Given the description of an element on the screen output the (x, y) to click on. 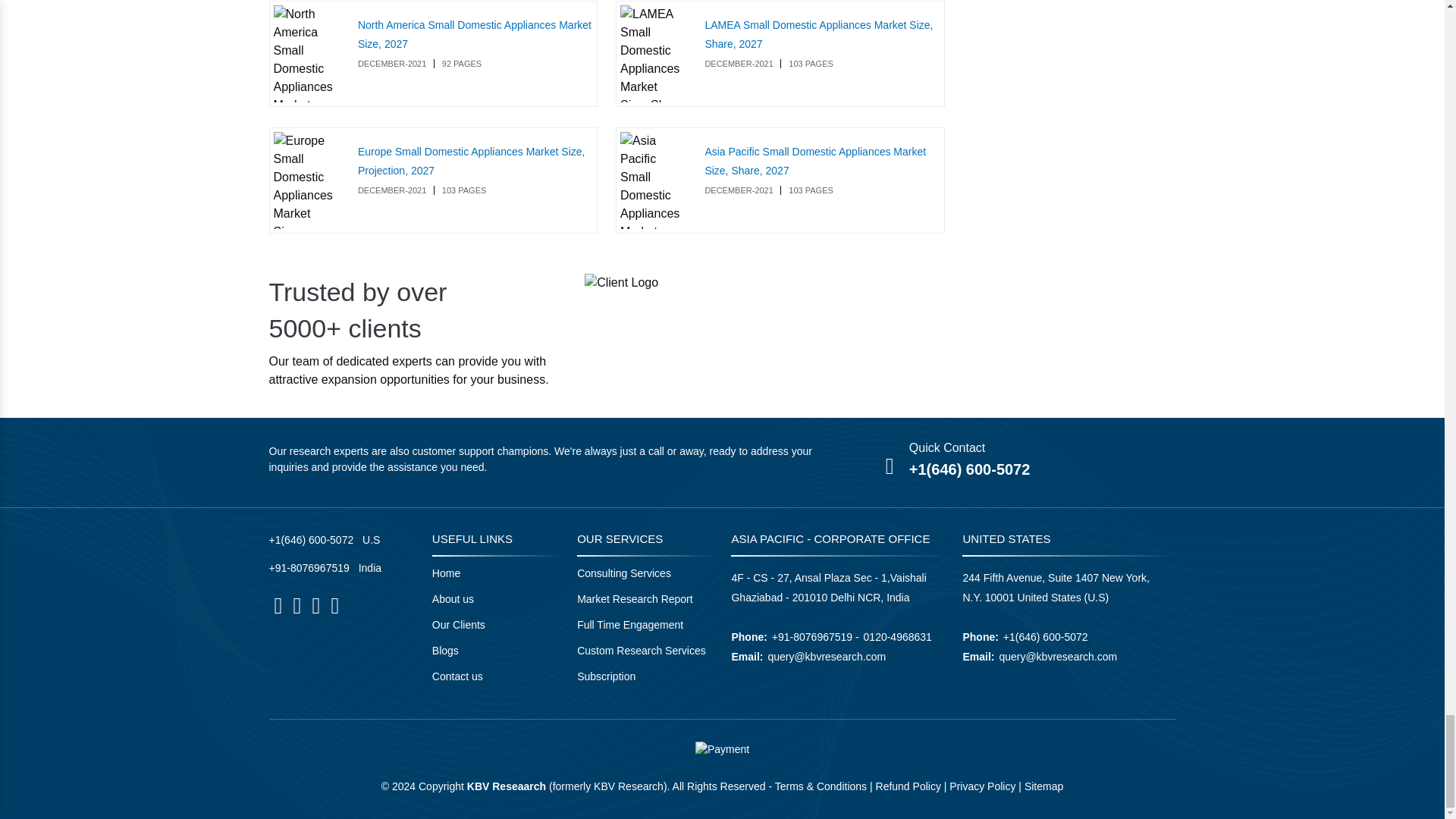
Facebook KBV Research (278, 605)
Linkedin KBV Research (296, 605)
North America Small Domestic Appliances Market Size, 2027 (474, 33)
Client Logo (621, 282)
LAMEA Small Domestic Appliances Market Size, Share, 2027 (652, 53)
Youtube KBV Research (334, 605)
LAMEA Small Domestic Appliances Market Size, Share, 2027 (818, 33)
Twitter KBV Research (315, 605)
North America Small Domestic Appliances Market Size, 2027 (306, 53)
Home (446, 573)
About us (453, 598)
